Given the description of an element on the screen output the (x, y) to click on. 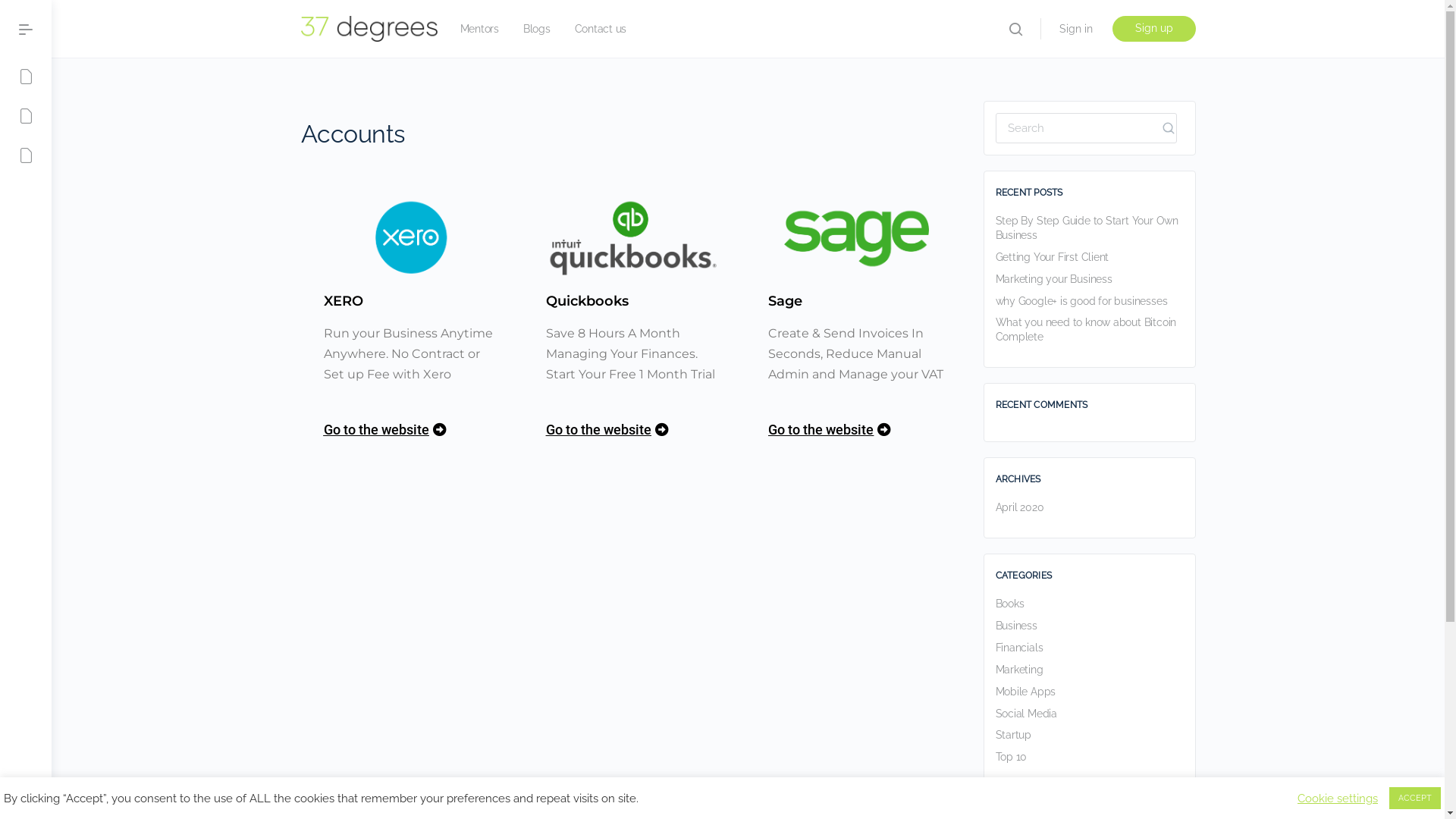
Step By Step Guide to Start Your Own Business Element type: text (1085, 227)
Marketing Element type: text (1018, 669)
Home Element type: text (68, 10)
April 2020 Element type: text (1018, 507)
Go to the website Element type: text (384, 432)
Search Element type: text (1167, 127)
ACCEPT Element type: text (1414, 798)
Financials Element type: text (1018, 647)
Sign in Element type: text (1075, 28)
Business Element type: text (1015, 625)
What you need to know about Bitcoin Complete Element type: text (1085, 329)
Books Element type: text (1008, 603)
Search Element type: text (303, 28)
Mentors Element type: text (478, 28)
Go to the website Element type: text (829, 432)
Mobile Apps Element type: text (1024, 691)
why Google+ is good for businesses Element type: text (1080, 300)
Marketing your Business Element type: text (1052, 279)
Sign up Element type: text (1153, 28)
Startup Element type: text (1012, 734)
Blogs Element type: text (536, 28)
Social Media Element type: text (1025, 713)
Go to the website Element type: text (607, 432)
Top 10 Element type: text (1010, 756)
Getting Your First Client Element type: text (1051, 257)
Cookie settings Element type: text (1337, 798)
Contact us Element type: text (600, 28)
